Given the description of an element on the screen output the (x, y) to click on. 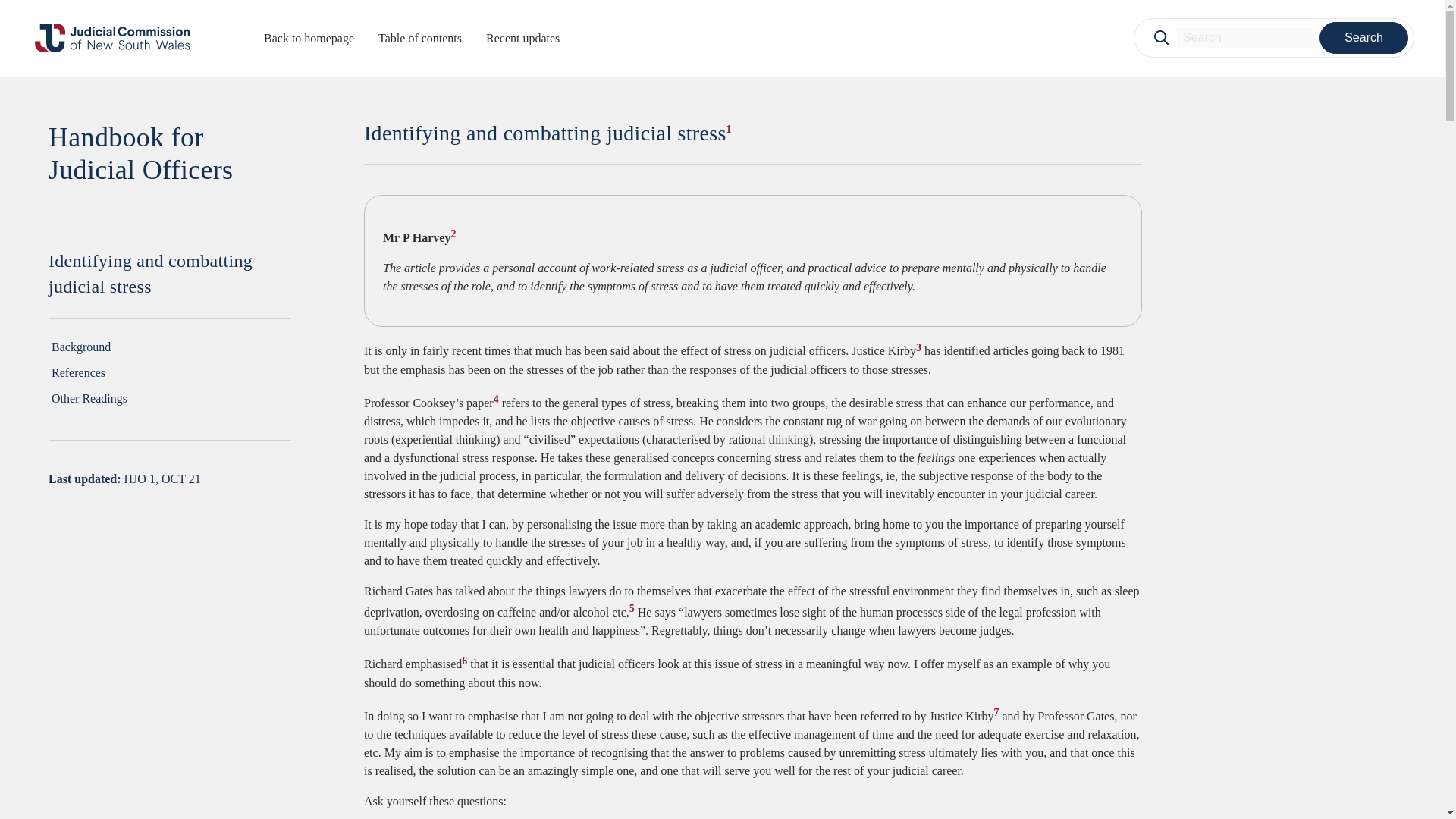
Background (169, 347)
HJO 1, OCT 21 (161, 478)
Search (1363, 38)
Back to homepage (308, 38)
References (169, 373)
Table of contents (419, 38)
Other Readings (169, 398)
Search (1363, 38)
Recent updates (522, 38)
Search (1363, 38)
